Given the description of an element on the screen output the (x, y) to click on. 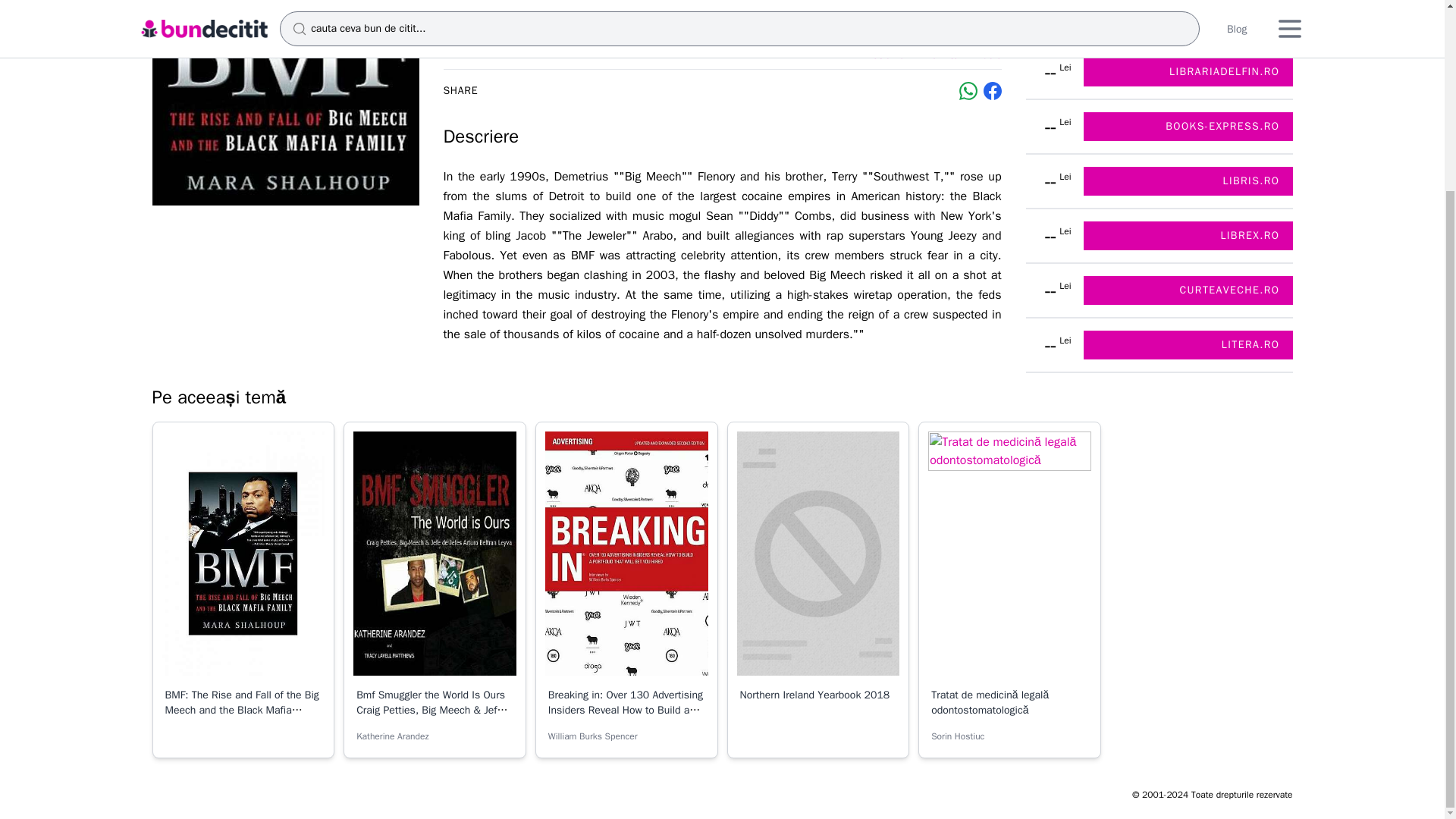
Straina (888, 55)
LIBREX.RO (1187, 235)
LIBRARIADELFIN.RO (1187, 71)
Northern Ireland Yearbook 2018 (814, 694)
The Arts (939, 55)
The Arts (939, 55)
LITERA.RO (1187, 344)
LIBRIS.RO (1187, 181)
